Given the description of an element on the screen output the (x, y) to click on. 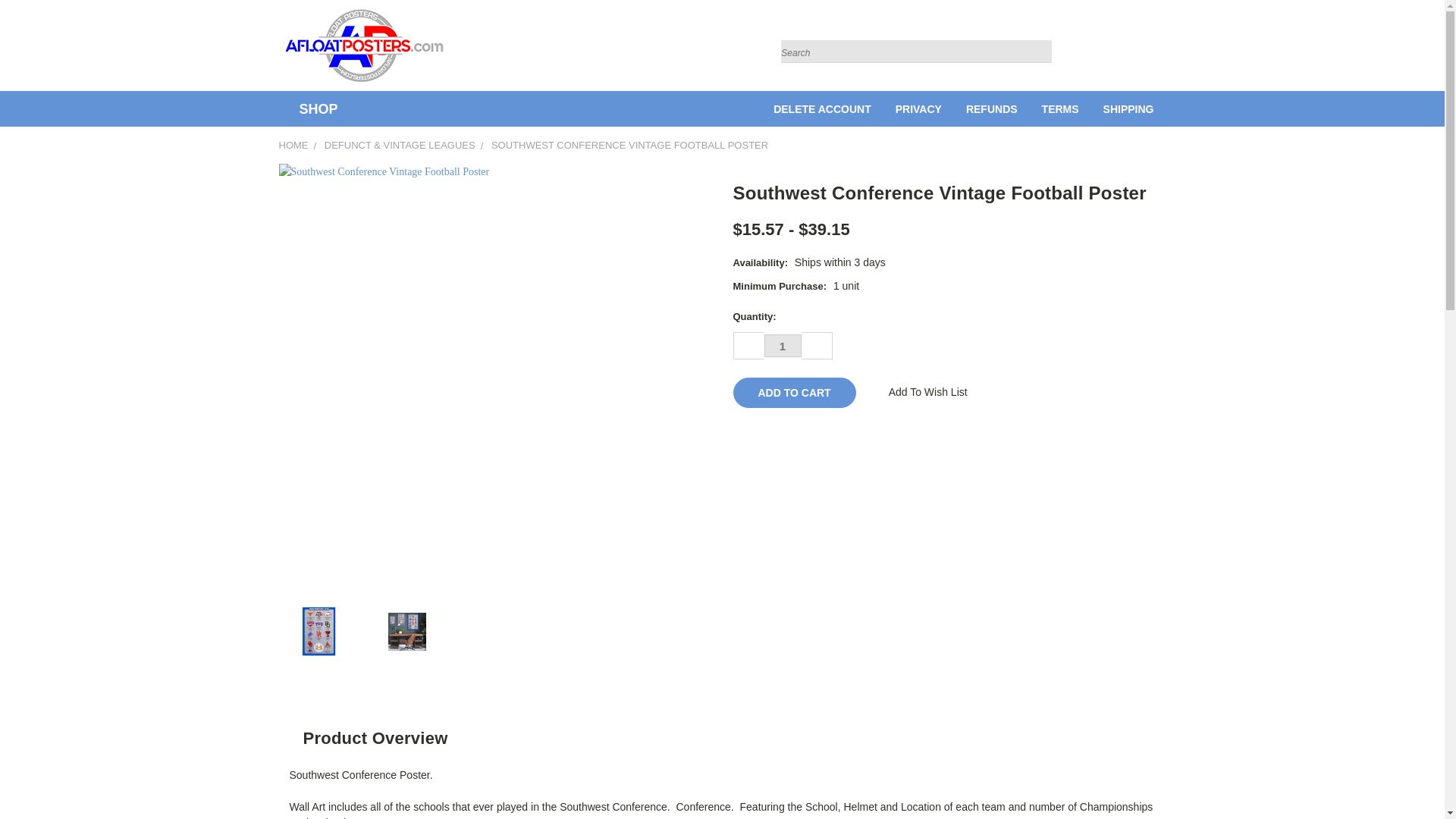
SHOP (314, 109)
1 (783, 345)
Afloat Posters (364, 45)
Submit Search (1036, 51)
User Toolbox (1135, 48)
Add to Cart (794, 392)
